Given the description of an element on the screen output the (x, y) to click on. 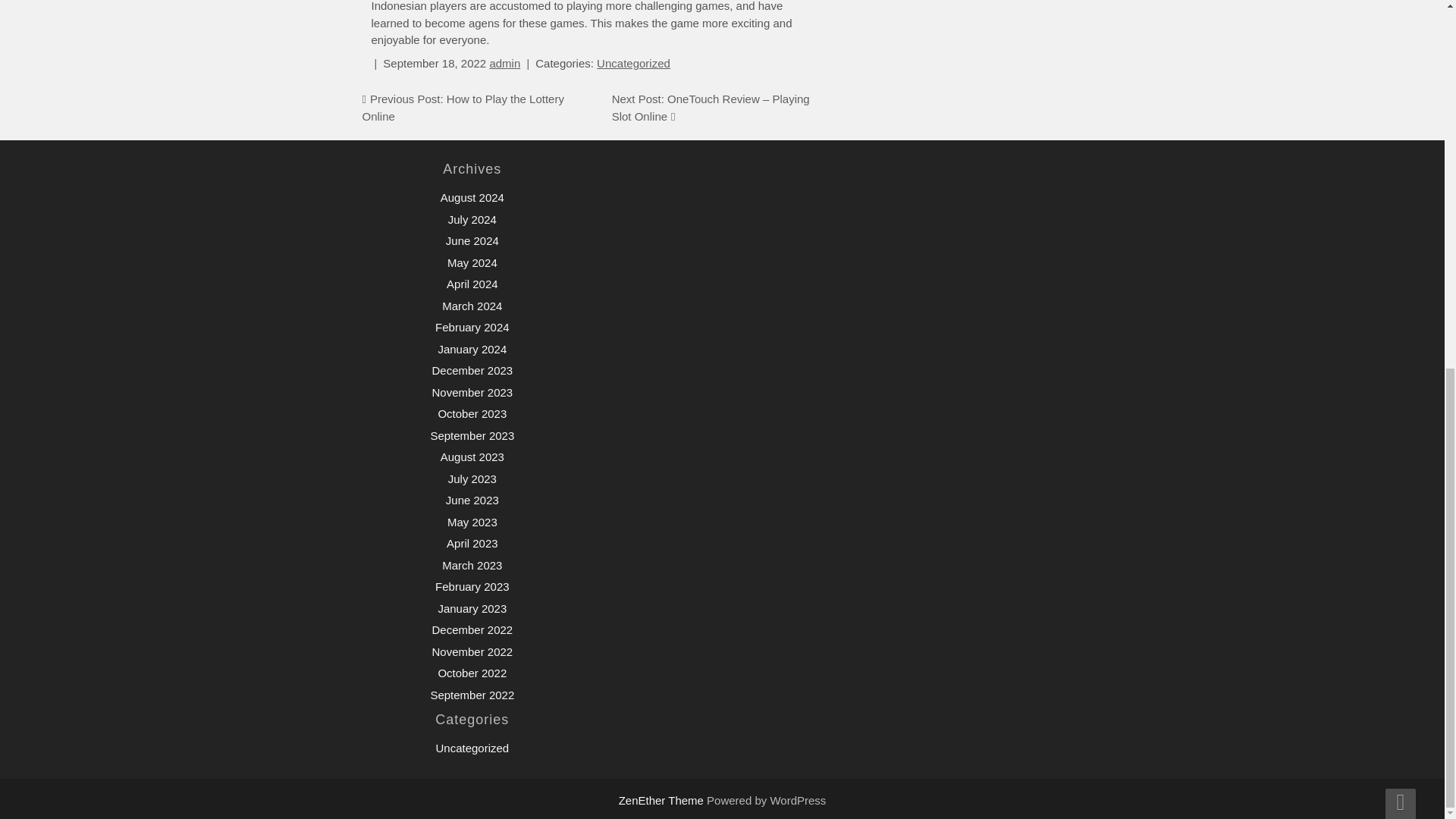
November 2023 (471, 391)
December 2023 (471, 369)
March 2023 (472, 564)
Uncategorized (632, 62)
April 2023 (471, 543)
February 2024 (472, 327)
June 2024 (472, 240)
May 2023 (471, 521)
March 2024 (472, 305)
Posts by admin (504, 62)
